Given the description of an element on the screen output the (x, y) to click on. 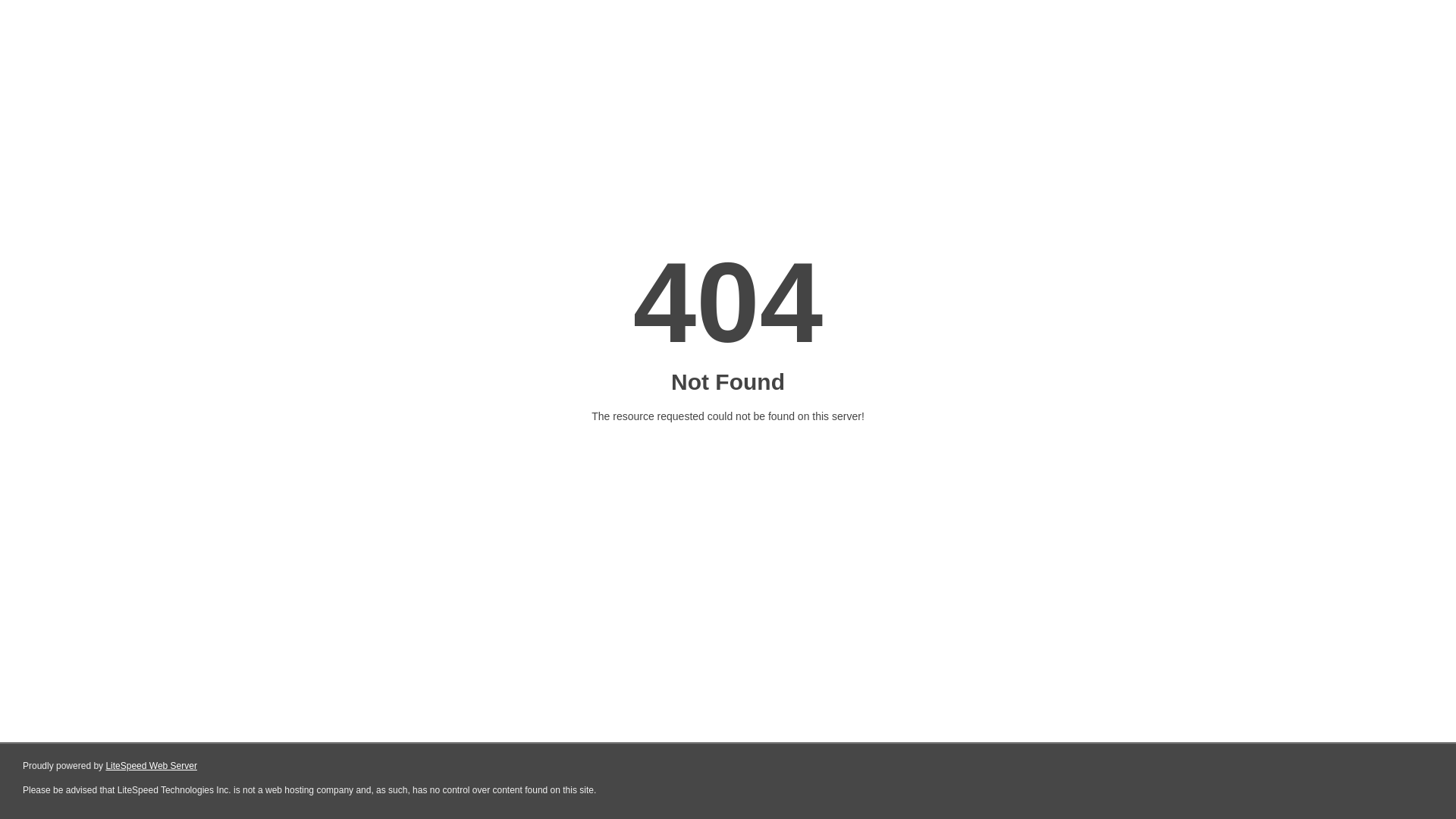
LiteSpeed Web Server Element type: text (151, 765)
